Given the description of an element on the screen output the (x, y) to click on. 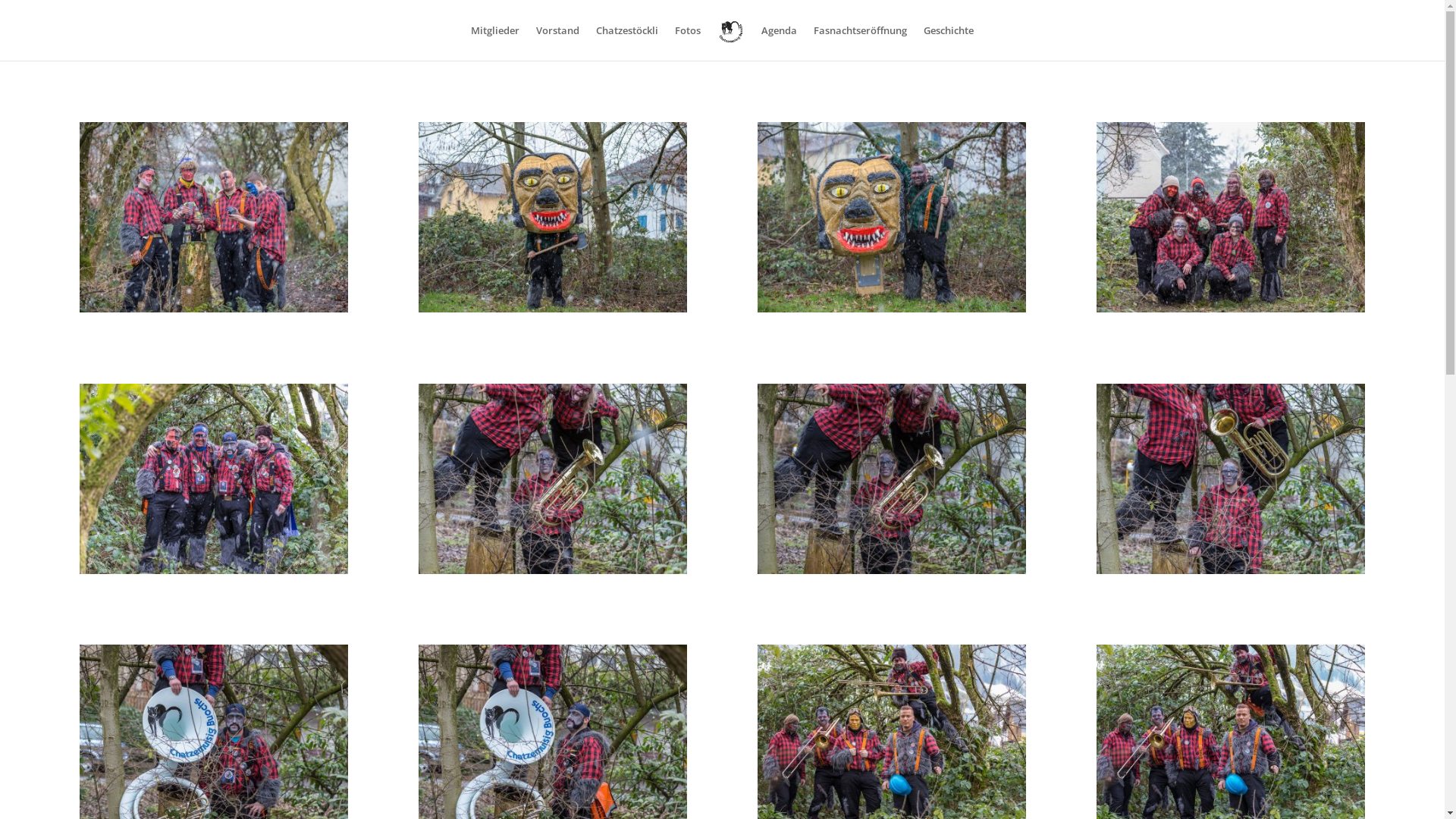
FinalWEB-3375 Element type: hover (213, 573)
Geschichte Element type: text (948, 42)
FinalWEB-3368 Element type: hover (1230, 573)
FinalWEB-3370 Element type: hover (891, 573)
FinalWEB-3371 Element type: hover (552, 573)
Agenda Element type: text (779, 42)
Mitglieder Element type: text (494, 42)
FinalWEB-3482 Element type: hover (1230, 311)
Fotos Element type: text (687, 42)
FinalWEB-3488 Element type: hover (891, 311)
Vorstand Element type: text (557, 42)
FinalWEB-3493 Element type: hover (213, 311)
FinalWEB-3490 Element type: hover (552, 311)
